Given the description of an element on the screen output the (x, y) to click on. 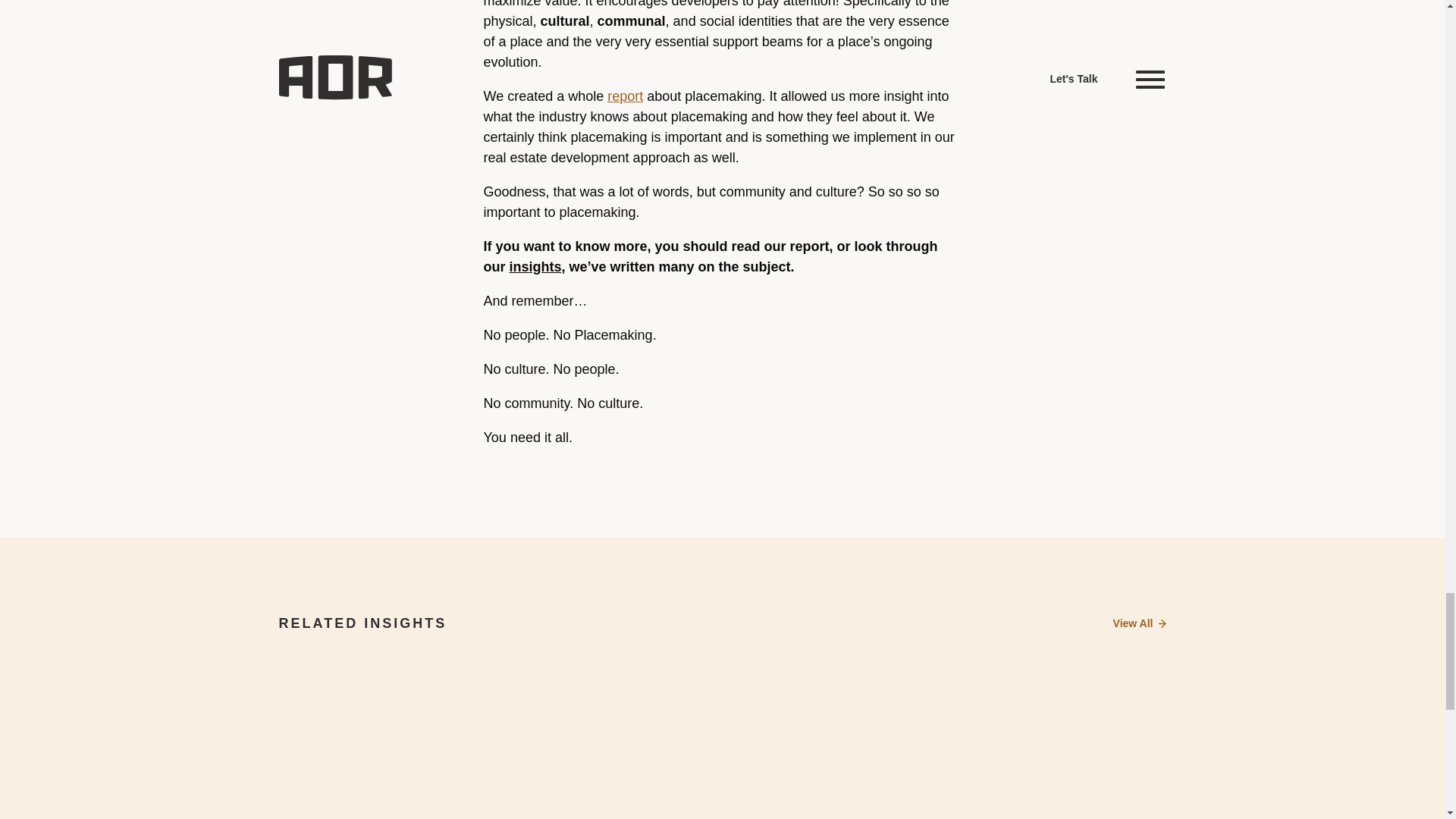
report (625, 96)
insights (535, 266)
View All (1139, 623)
